Given the description of an element on the screen output the (x, y) to click on. 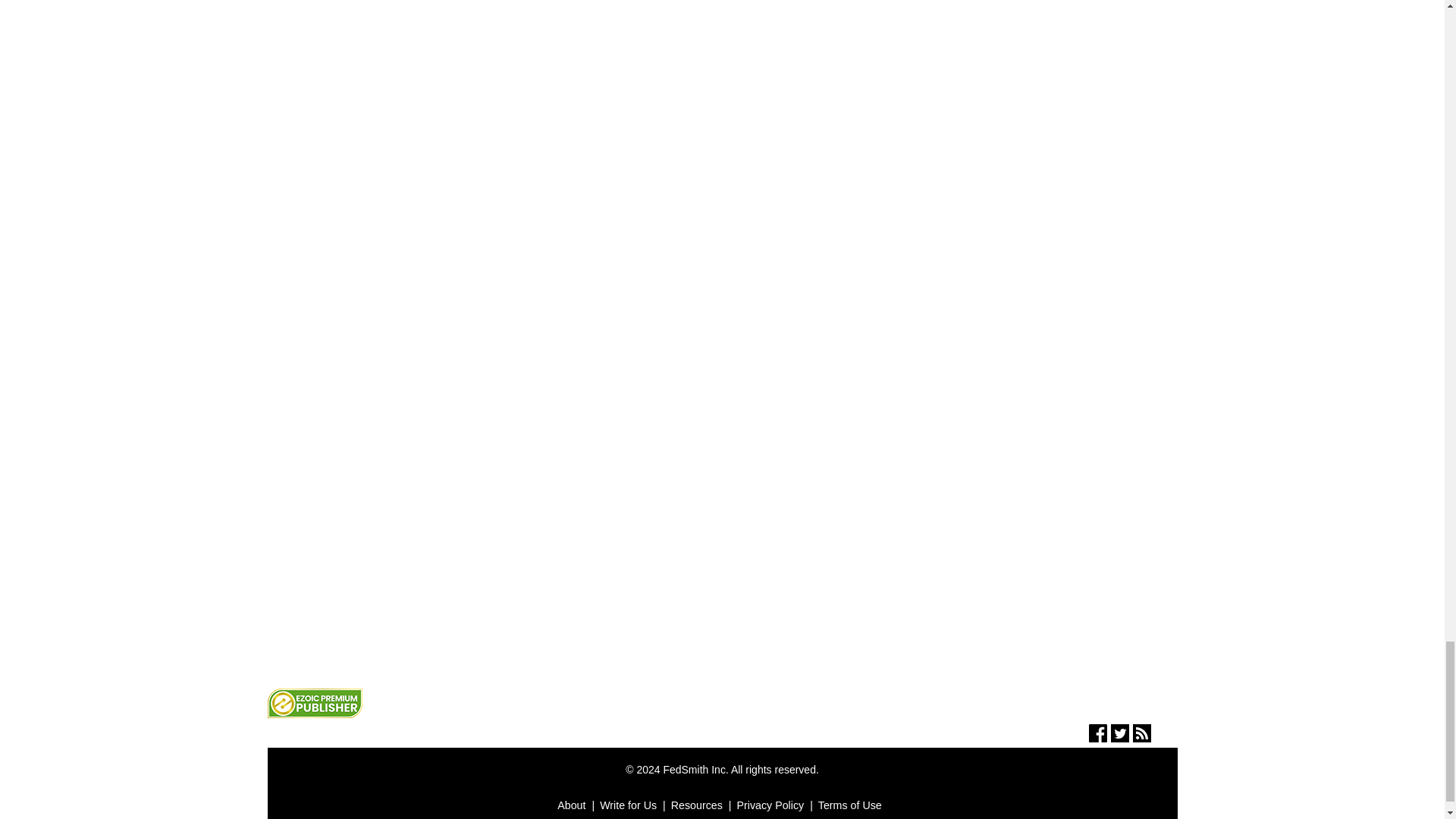
Subscribe to our RSS feed (1141, 737)
Follow FedSmith on Facebook (1097, 737)
